Given the description of an element on the screen output the (x, y) to click on. 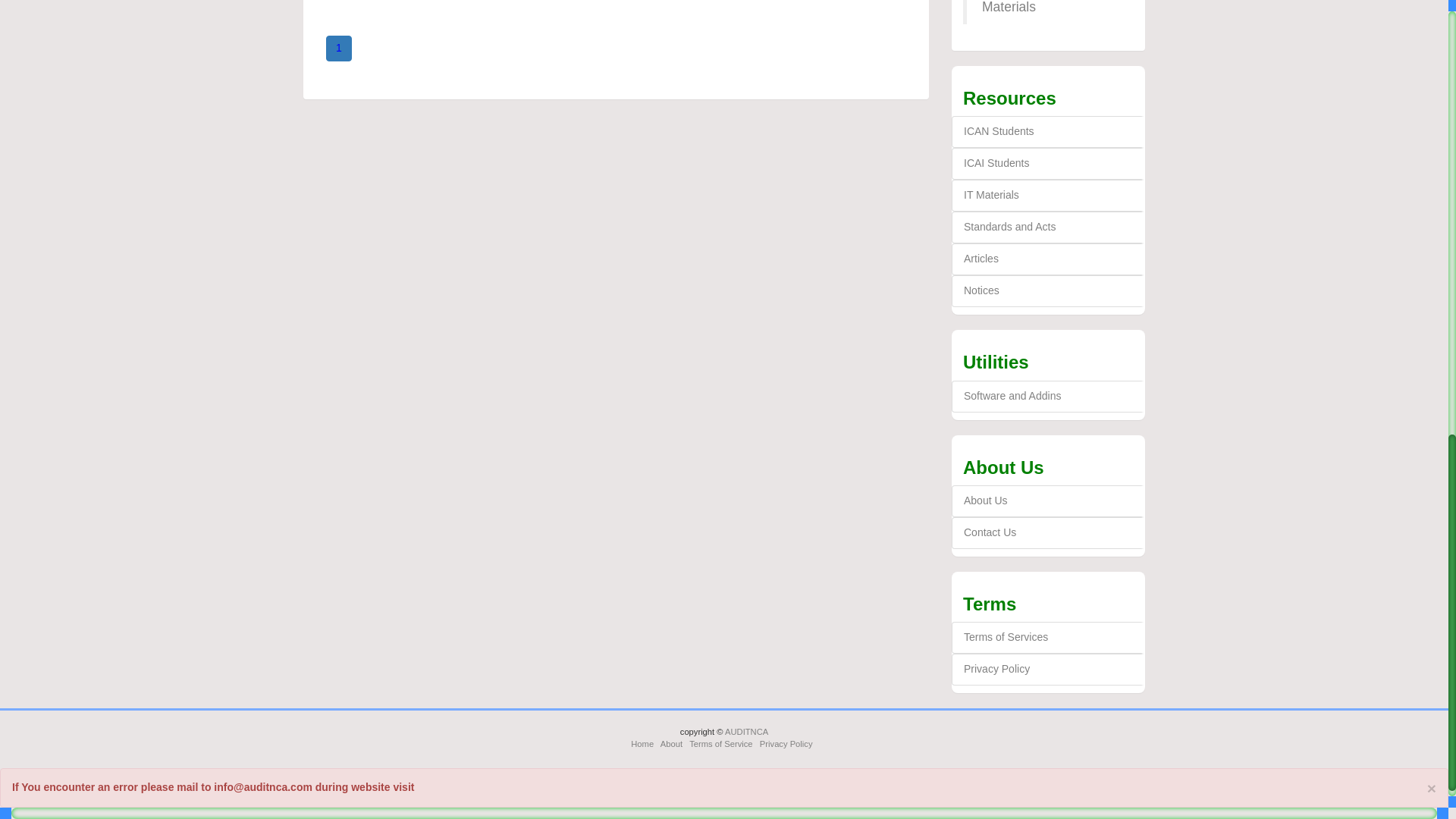
CA Notes and Materials (1022, 7)
About (671, 743)
AUDITNCA (746, 731)
Terms of Services (1048, 637)
ICAI Students (1048, 163)
About Us (1048, 500)
Standards and Acts (1048, 227)
Privacy Policy (1048, 669)
Contact Us (1048, 532)
IT Materials (1048, 195)
Software and Addins (1048, 396)
1 (339, 48)
Notices (1048, 291)
ICAN Students (1048, 132)
Home (641, 743)
